Given the description of an element on the screen output the (x, y) to click on. 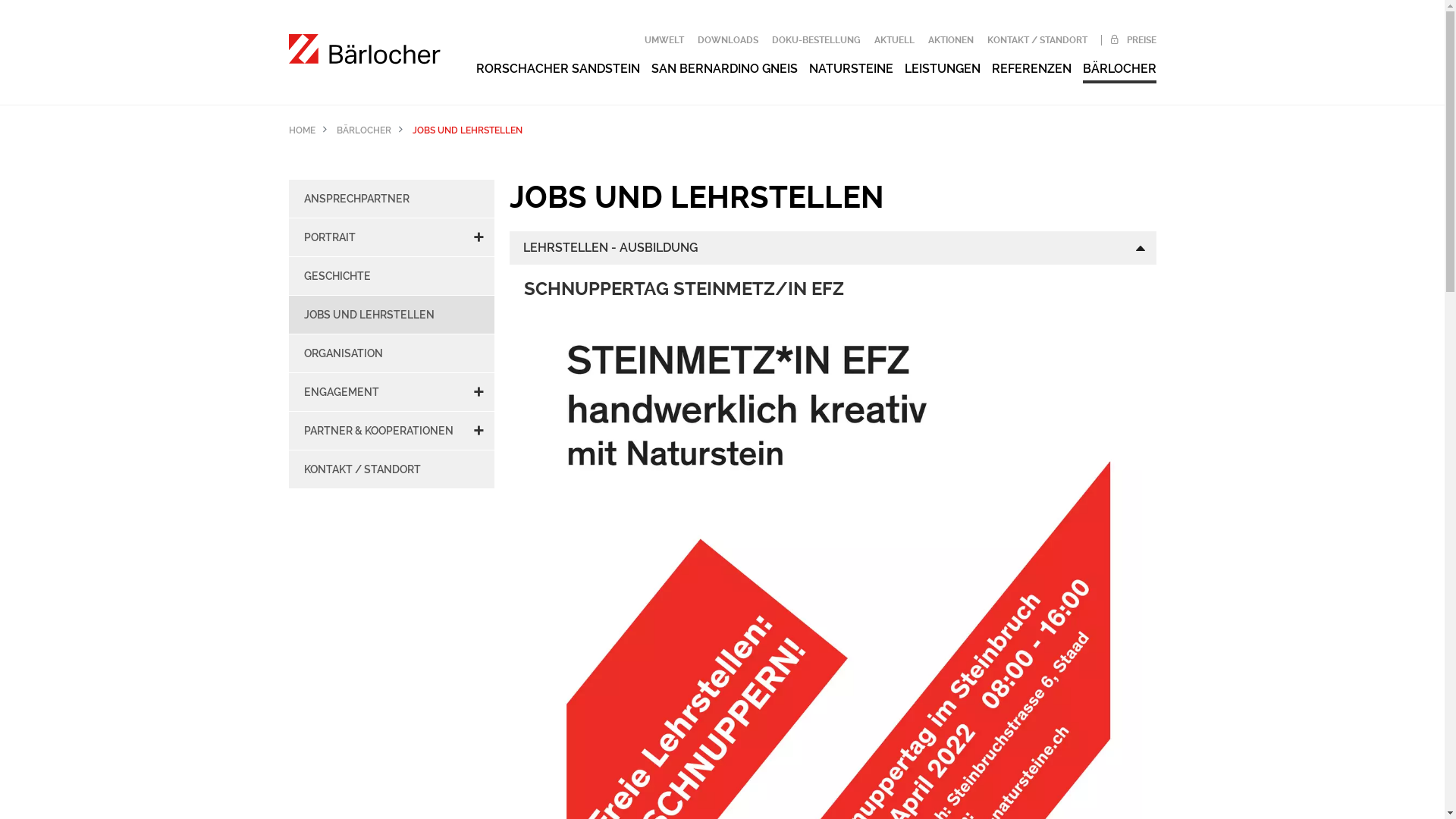
HOME Element type: text (301, 130)
KONTAKT / STANDORT Element type: text (1037, 39)
DOWNLOADS Element type: text (727, 39)
NATURSTEINE Element type: text (850, 68)
KONTAKT / STANDORT Element type: text (390, 469)
AKTIONEN Element type: text (950, 39)
LEHRSTELLEN - AUSBILDUNG Element type: text (832, 247)
ANSPRECHPARTNER Element type: text (390, 198)
JOBS UND LEHRSTELLEN Element type: text (467, 130)
PORTRAIT Element type: text (390, 237)
SAN BERNARDINO GNEIS Element type: text (723, 68)
JOBS UND LEHRSTELLEN Element type: text (390, 314)
LEISTUNGEN Element type: text (941, 68)
UMWELT Element type: text (664, 39)
AKTUELL Element type: text (893, 39)
PREISE Element type: text (1128, 39)
ENGAGEMENT Element type: text (390, 392)
ORGANISATION Element type: text (390, 353)
RORSCHACHER SANDSTEIN Element type: text (558, 68)
DOKU-BESTELLUNG Element type: text (815, 39)
REFERENZEN Element type: text (1031, 68)
GESCHICHTE Element type: text (390, 275)
PARTNER & KOOPERATIONEN Element type: text (390, 430)
